Given the description of an element on the screen output the (x, y) to click on. 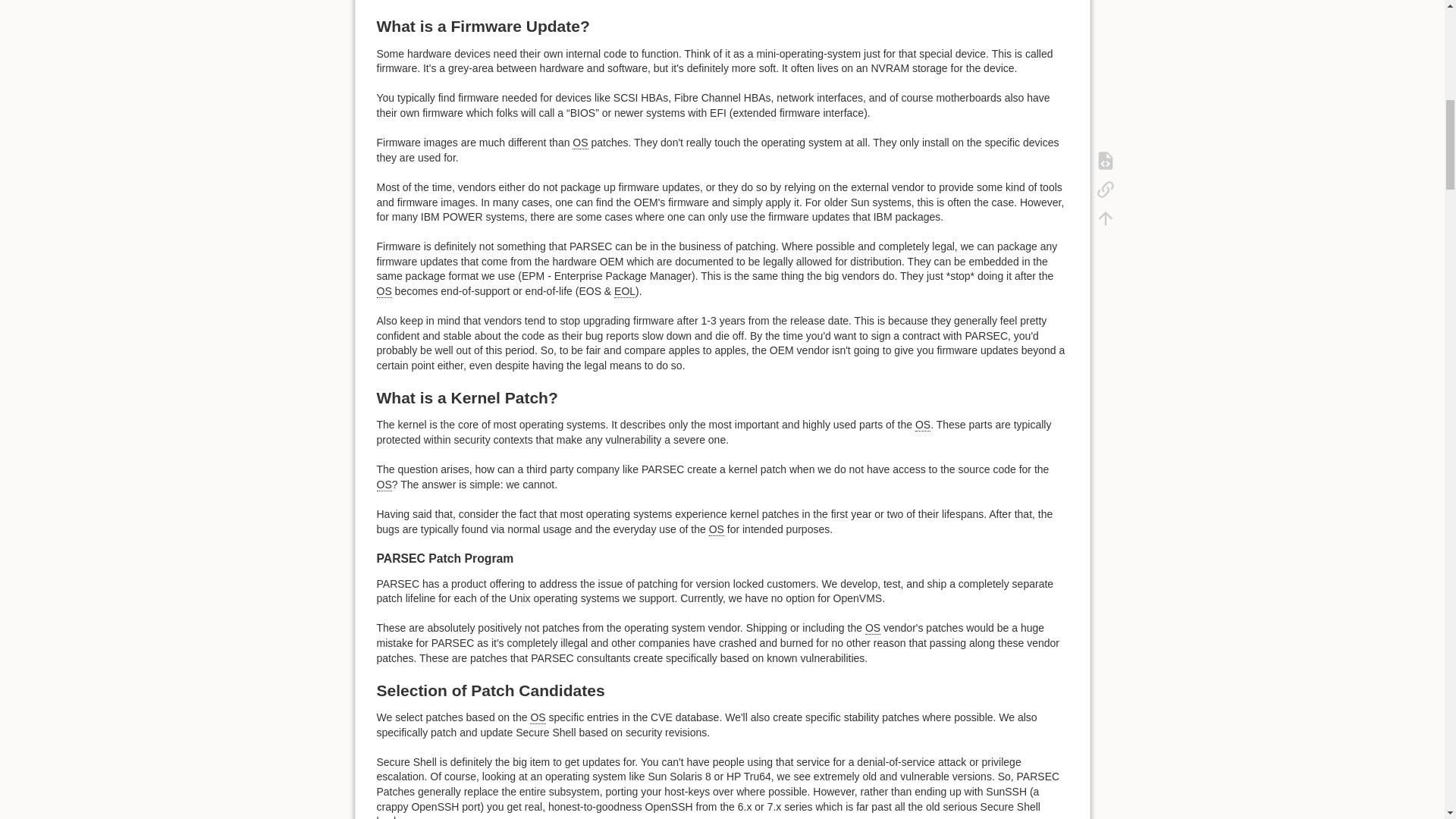
Operating System (580, 142)
Operating System (922, 424)
Operating System (383, 291)
End of line (624, 291)
Operating System (383, 484)
